Given the description of an element on the screen output the (x, y) to click on. 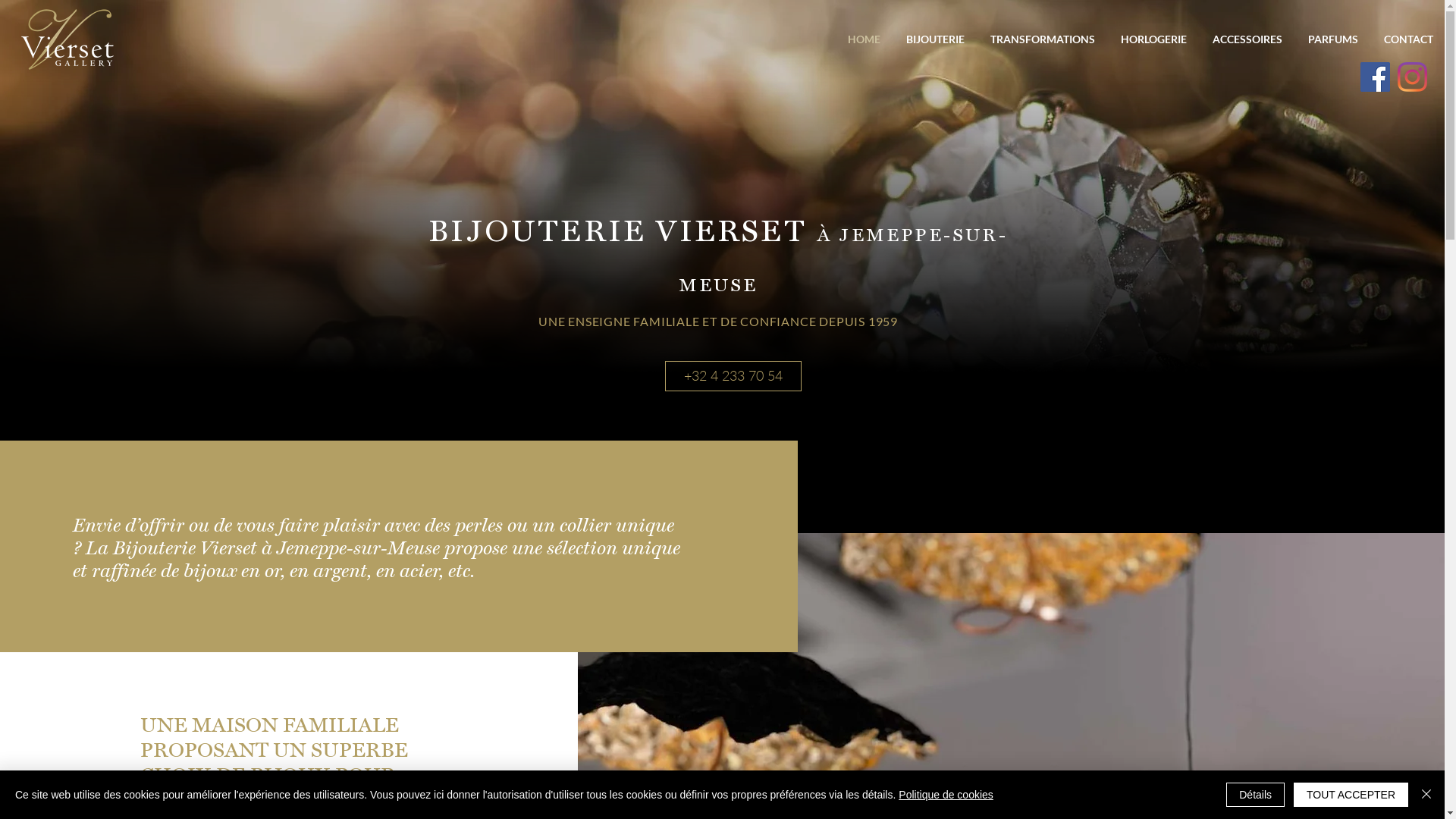
BIJOUTERIE Element type: text (933, 39)
HOME Element type: text (862, 39)
+32 4 233 70 54 Element type: text (732, 375)
PARFUMS Element type: text (1331, 39)
ACCESSOIRES Element type: text (1245, 39)
Politique de cookies Element type: text (945, 794)
HORLOGERIE Element type: text (1152, 39)
TRANSFORMATIONS Element type: text (1040, 39)
TOUT ACCEPTER Element type: text (1350, 794)
CONTACT Element type: text (1406, 39)
